Given the description of an element on the screen output the (x, y) to click on. 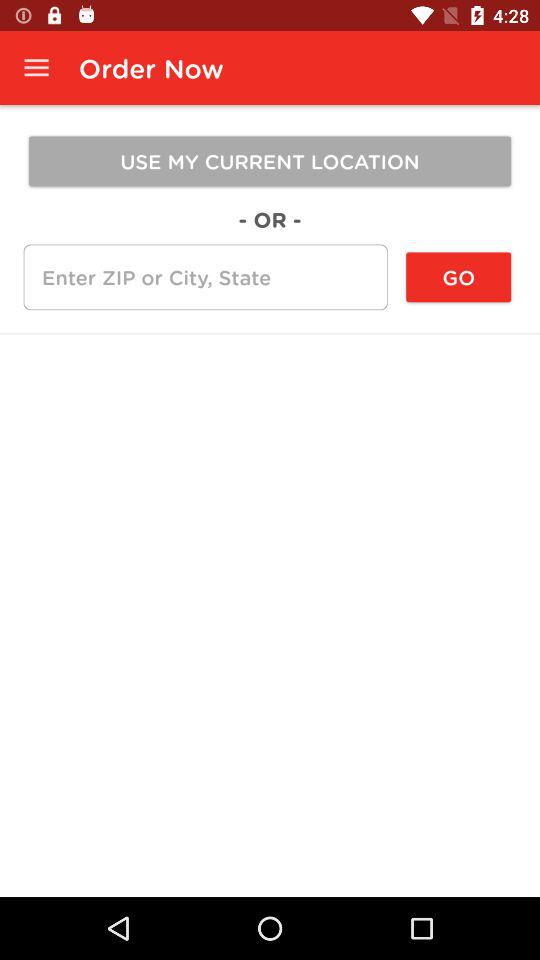
press item above the use my current item (36, 68)
